Given the description of an element on the screen output the (x, y) to click on. 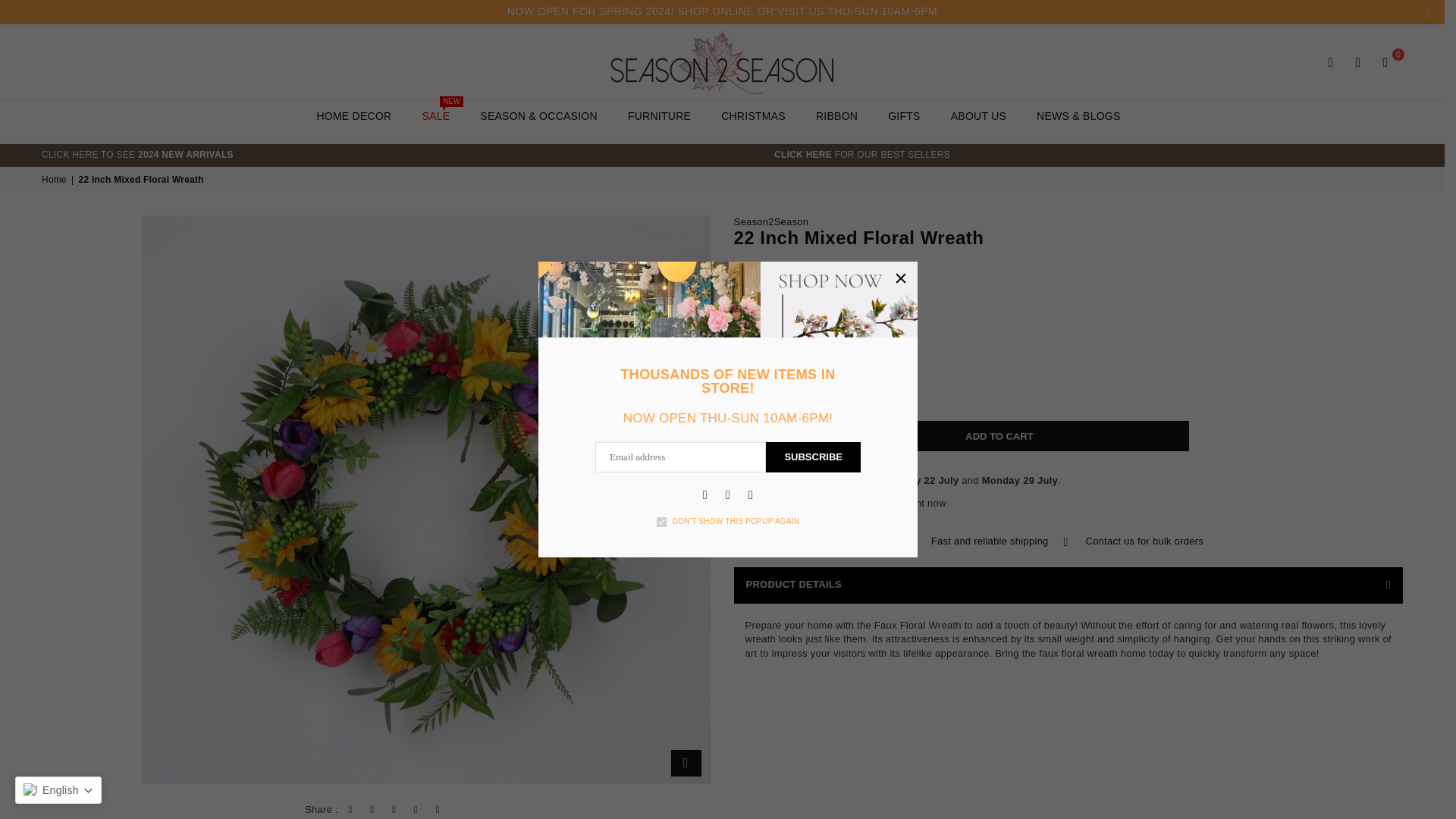
HOME DECOR (353, 115)
Share on Facebook (350, 809)
Tweet on Twitter (372, 809)
Back to the home page (55, 179)
Cart (1385, 61)
Facebook (705, 494)
SEASON2SEASON (721, 62)
Share by Email (438, 809)
Search (1330, 61)
Pin on Pinterest (394, 809)
Share on Linked In (416, 809)
Season2Season on Facebook (705, 494)
Instagram (727, 494)
on (661, 521)
Season2Season (771, 221)
